Given the description of an element on the screen output the (x, y) to click on. 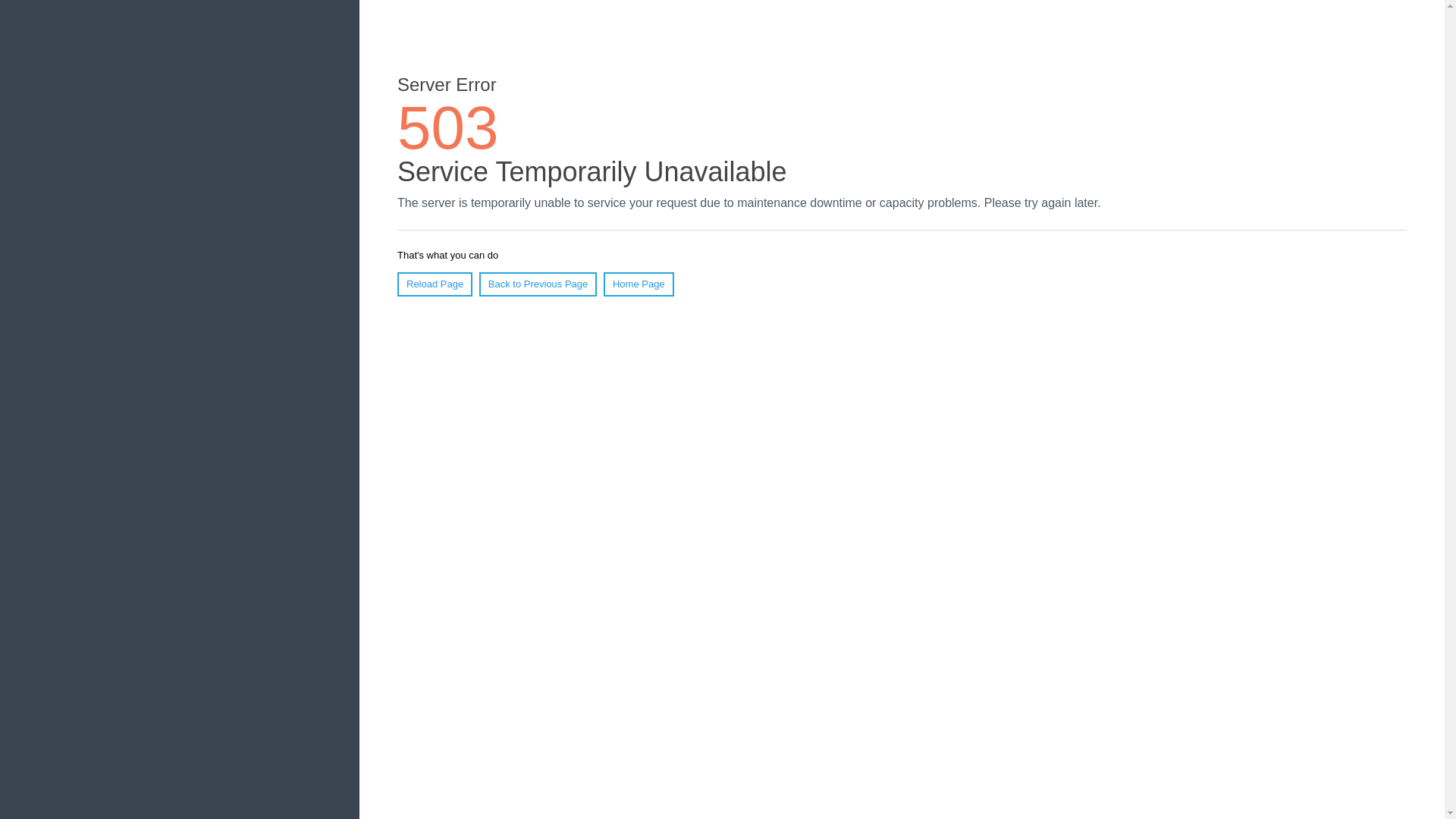
Back to Previous Page Element type: text (538, 284)
Home Page Element type: text (638, 284)
Reload Page Element type: text (434, 284)
